Given the description of an element on the screen output the (x, y) to click on. 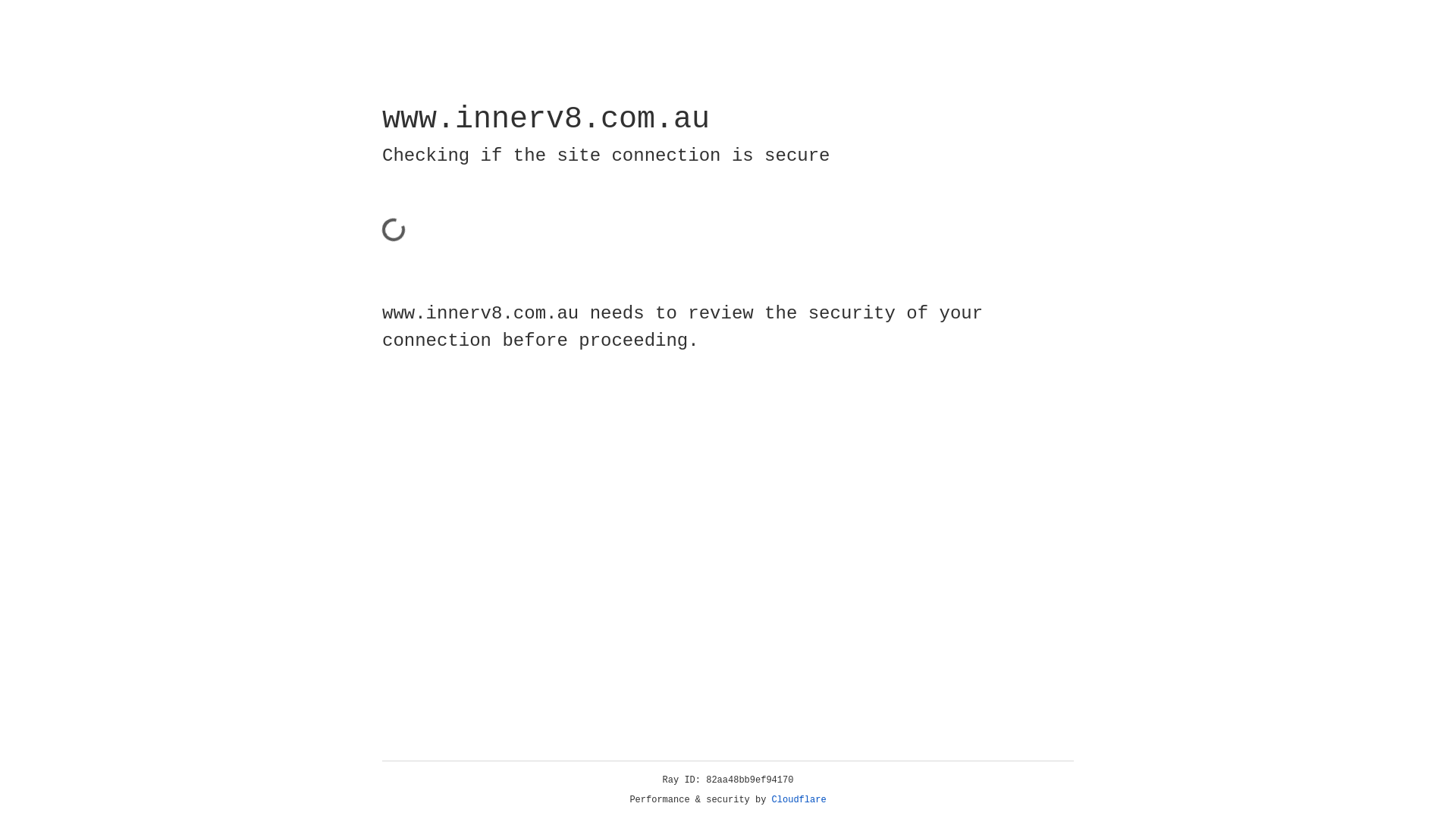
Cloudflare Element type: text (798, 799)
